Given the description of an element on the screen output the (x, y) to click on. 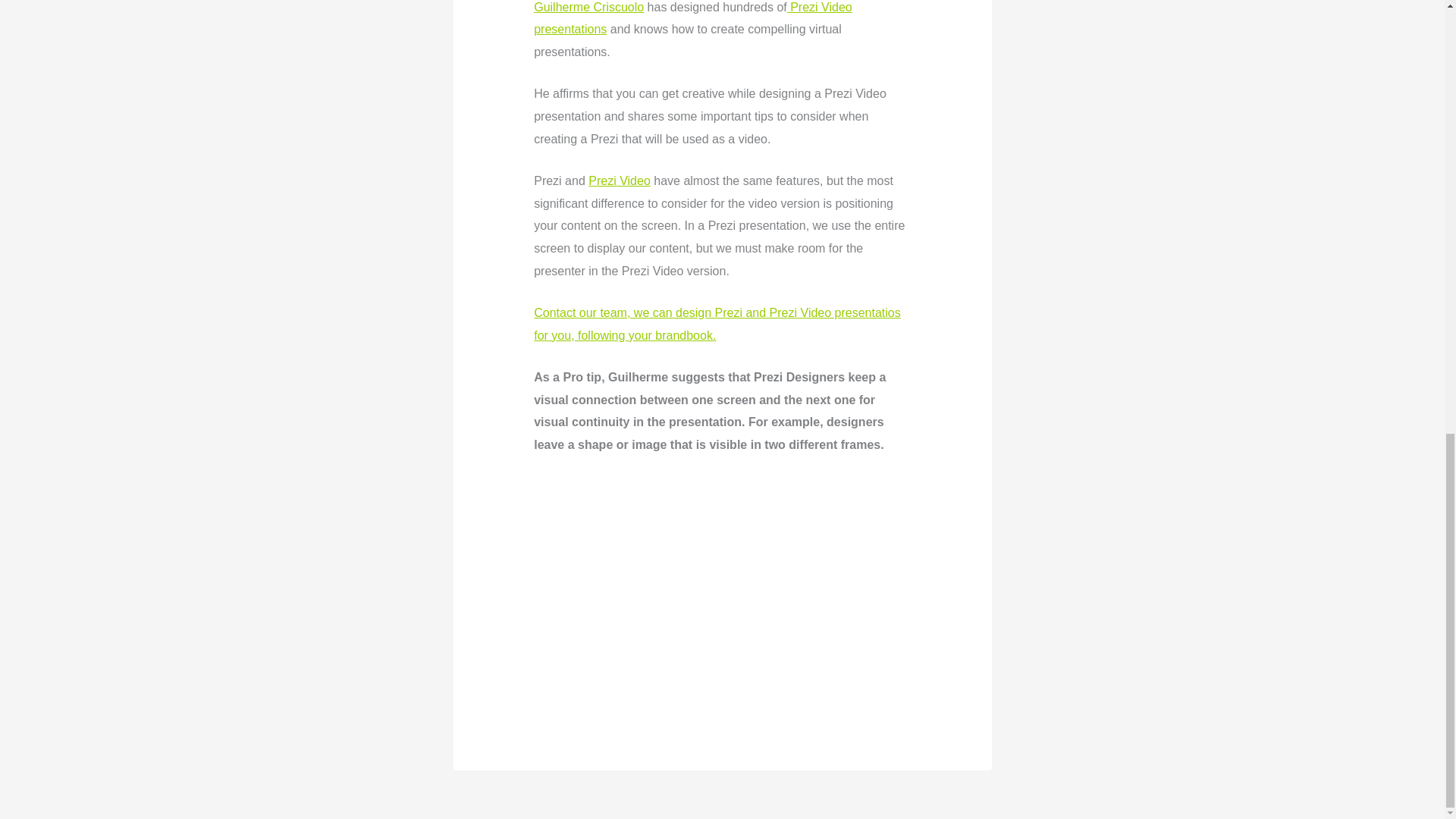
Prezi Video presentations (692, 18)
Guilherme Criscuolo (588, 6)
Prezi Video (619, 180)
visual-continuity-in-presentations.mp4 (722, 581)
